Given the description of an element on the screen output the (x, y) to click on. 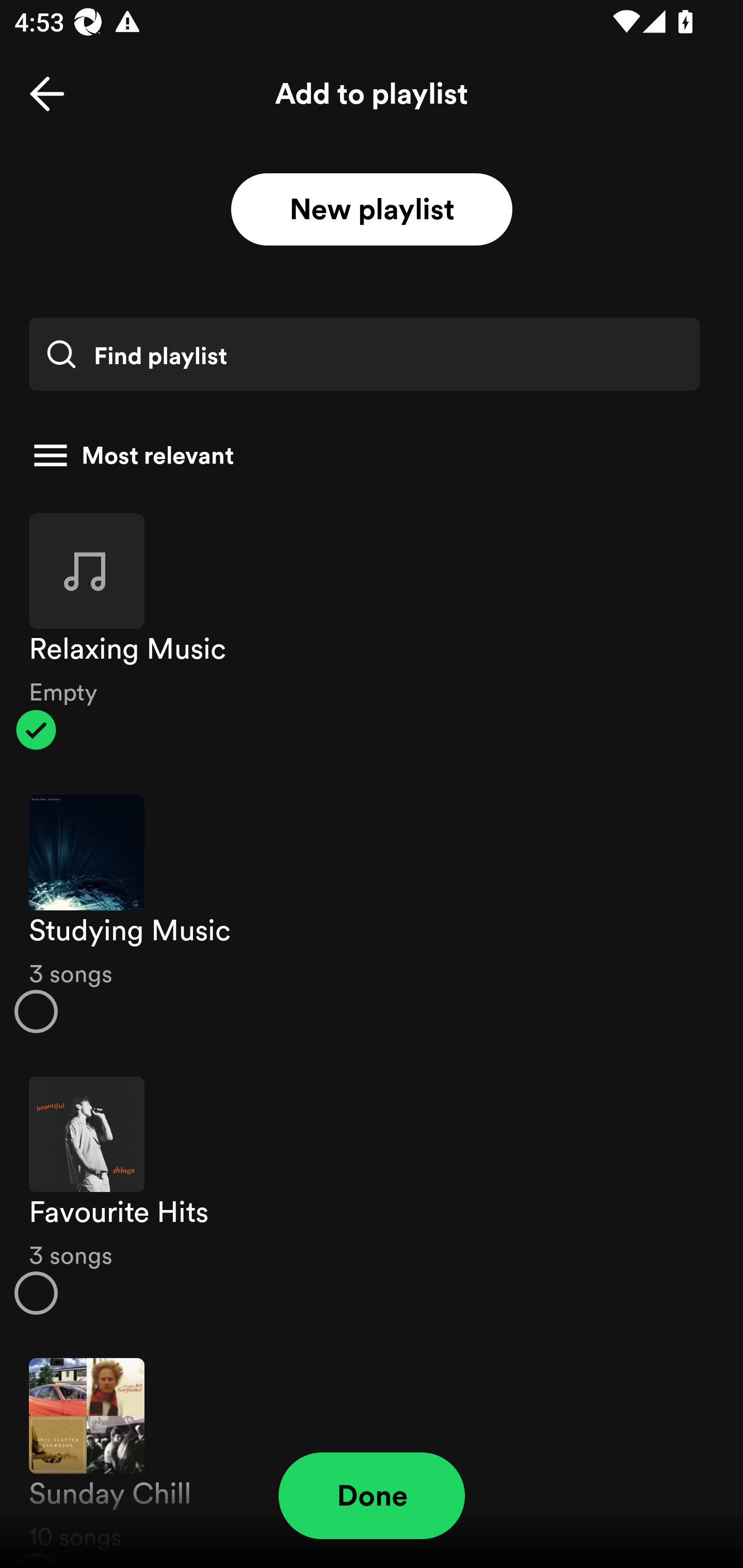
Back (46, 93)
New playlist (371, 210)
Find playlist (363, 354)
Most relevant (363, 455)
Relaxing Music Empty (371, 631)
Studying Music 3 songs (371, 914)
Favourite Hits 3 songs (371, 1195)
Sunday Chill 10 songs (371, 1451)
Done (371, 1495)
